Given the description of an element on the screen output the (x, y) to click on. 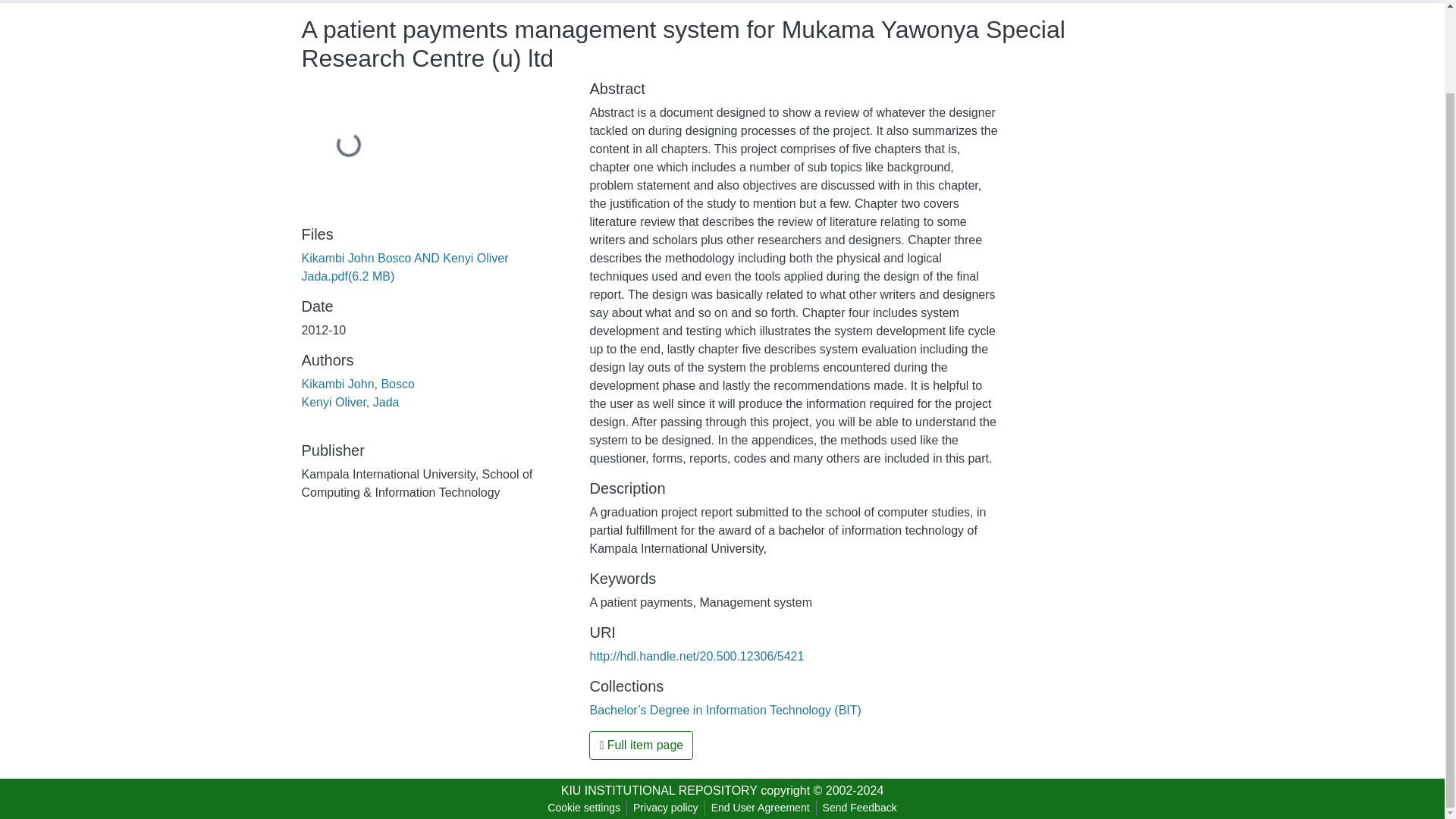
Cookie settings (583, 807)
Kenyi Oliver, Jada (349, 401)
End User Agreement (759, 807)
Privacy policy (665, 807)
KIU INSTITUTIONAL REPOSITORY (658, 789)
Send Feedback (859, 807)
Kikambi John, Bosco (357, 383)
Full item page (641, 745)
